Given the description of an element on the screen output the (x, y) to click on. 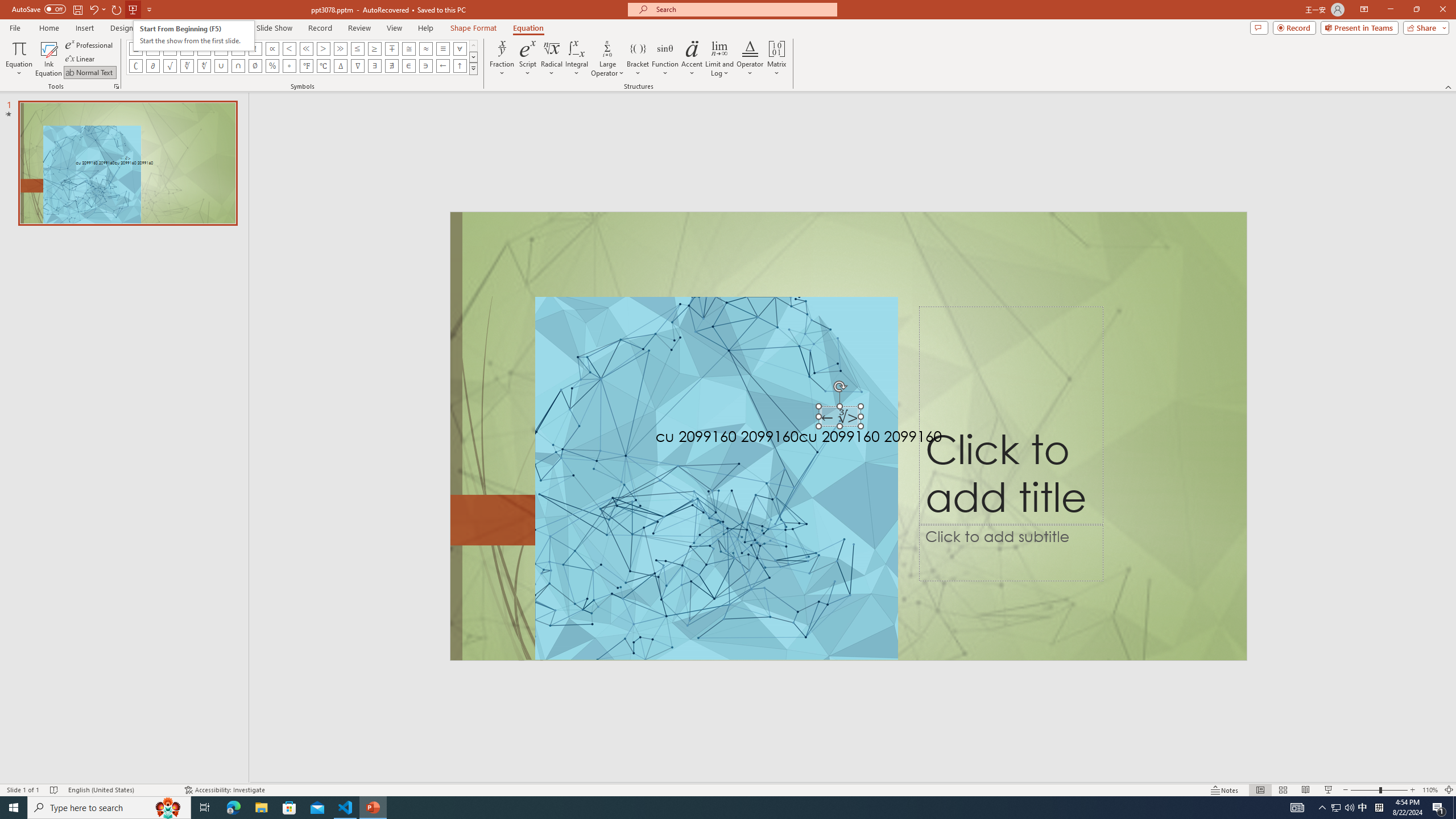
Equation Symbol Plus Minus (136, 48)
AutomationID: EquationSymbolsInsertGallery (302, 57)
Equation Symbol Union (221, 65)
Equation Symbol Division Sign (238, 48)
Equation Symbol Left Arrow (442, 65)
Equation Symbol Equal (170, 48)
Equation Symbol Identical To (442, 48)
Equation Symbol There Exists (374, 65)
Equation Symbol There Does Not Exist (391, 65)
Equation Symbol Approximately (203, 48)
Equation Symbol Degrees Celsius (322, 65)
